Given the description of an element on the screen output the (x, y) to click on. 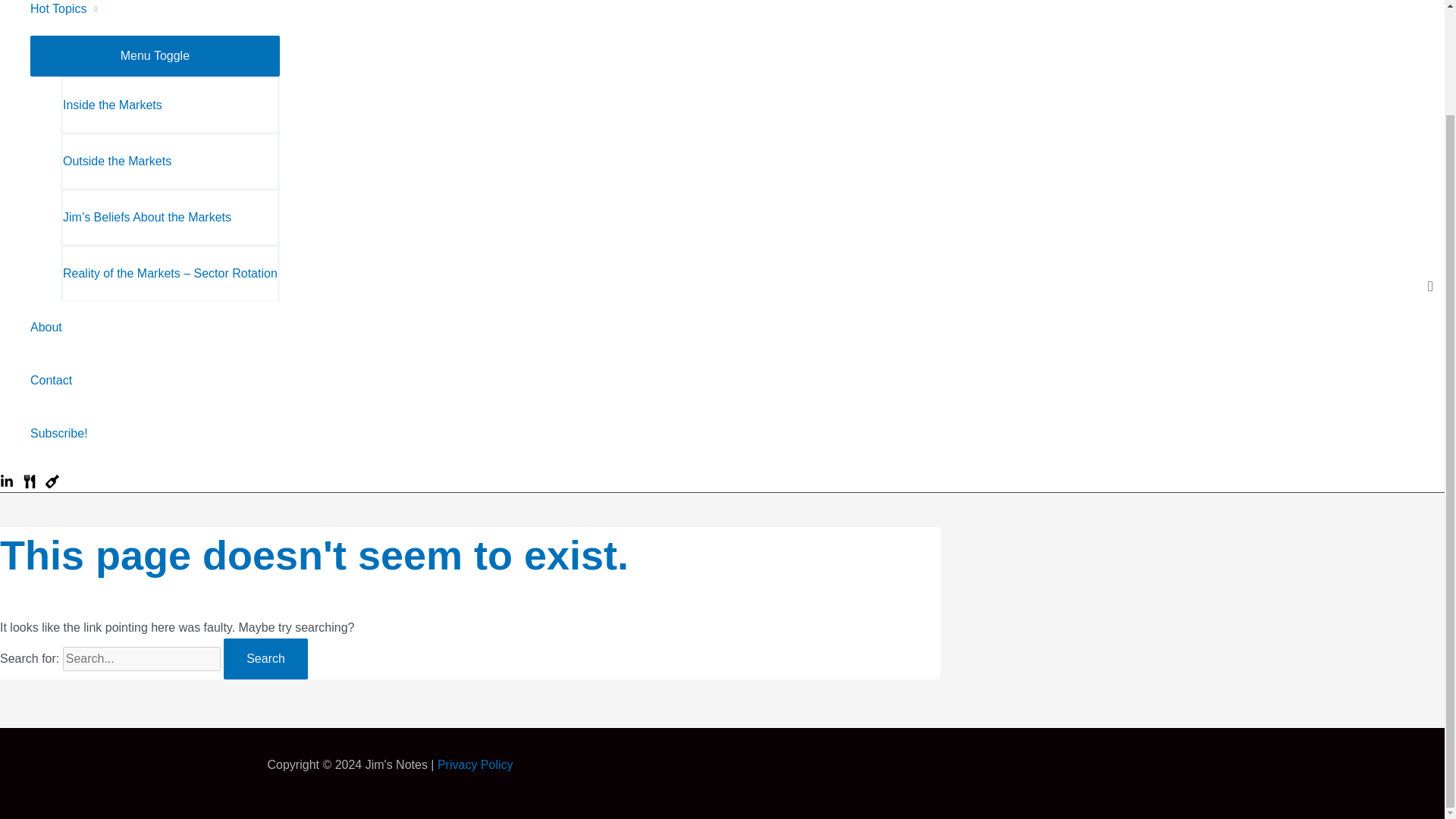
Menu Toggle (154, 56)
Subscribe! (154, 433)
Search (265, 658)
About (154, 327)
Search (265, 658)
Outside the Markets (170, 160)
Privacy Policy (475, 764)
Inside the Markets (170, 104)
Contact (154, 380)
Hot Topics (154, 18)
